Given the description of an element on the screen output the (x, y) to click on. 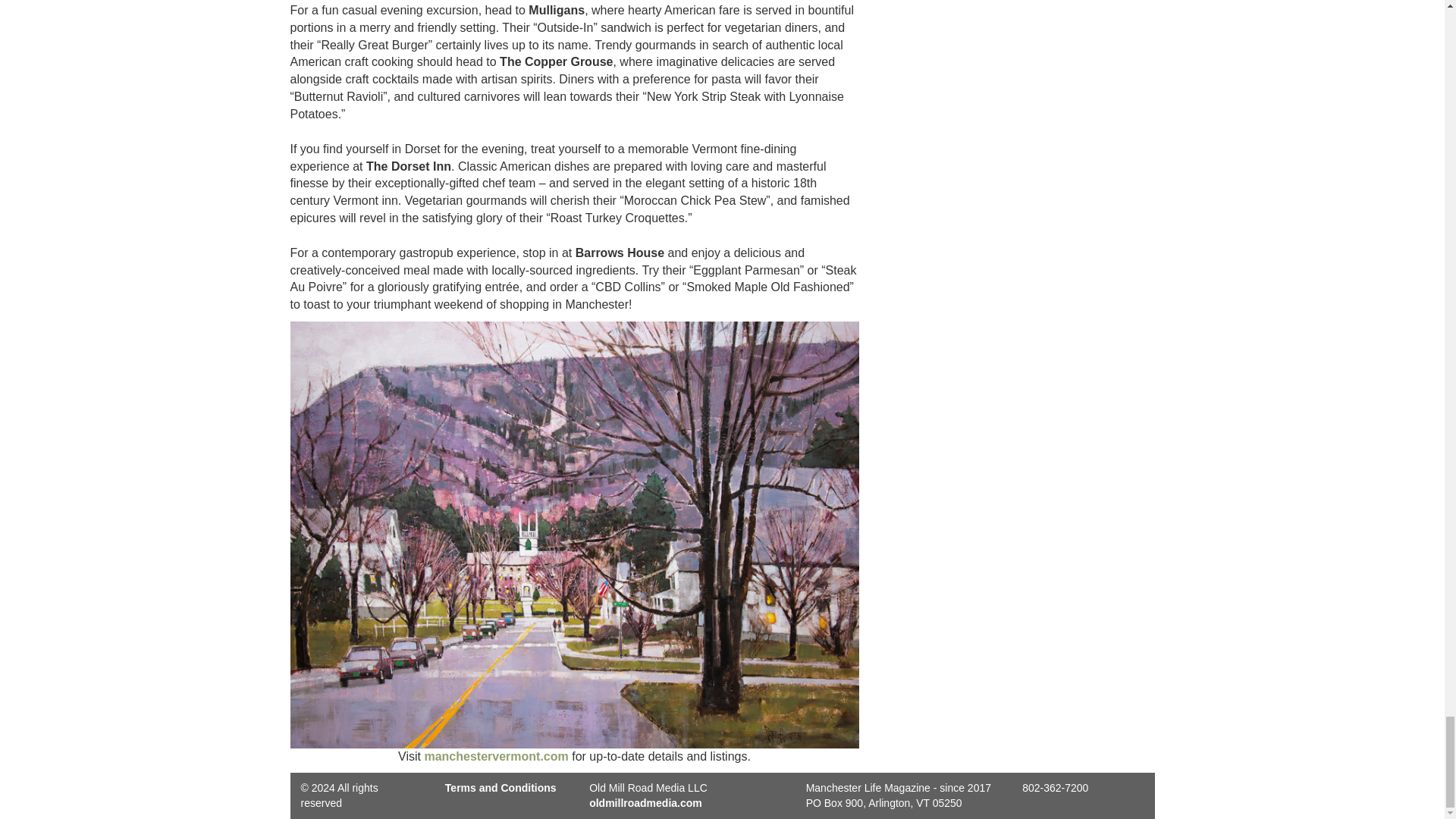
manchestervermont.com (495, 756)
Terms and Conditions (500, 787)
oldmillroadmedia.com (645, 802)
